Given the description of an element on the screen output the (x, y) to click on. 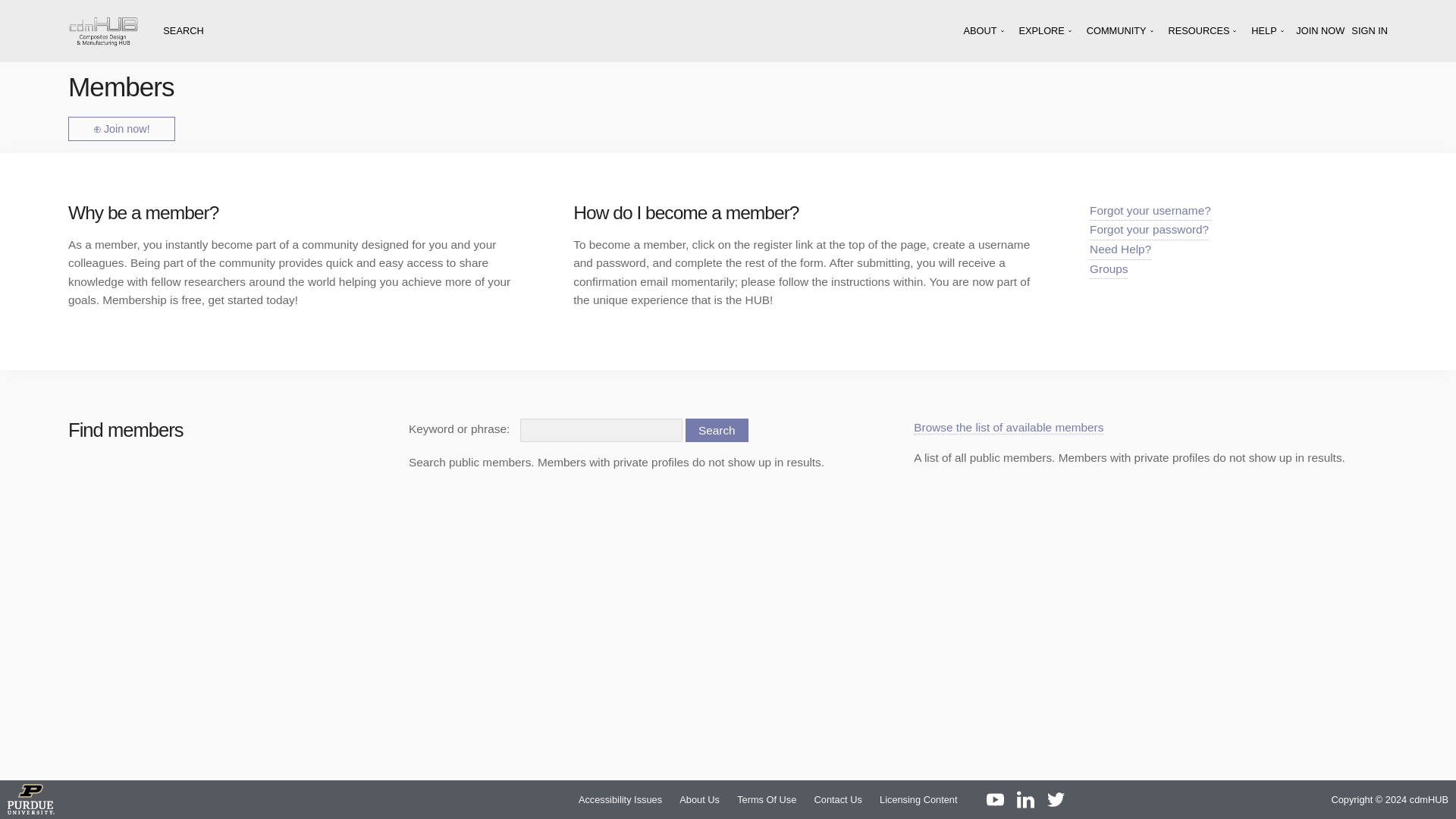
Groups (1107, 270)
Join Now (1319, 30)
Search (716, 430)
Sign In (1369, 30)
Need Help? (1120, 250)
Forgot your password? (1148, 230)
COMMUNITY (1120, 30)
RESOURCES (1202, 30)
HELP (1268, 30)
cdmHUB - The Composites HUB (103, 29)
JOIN NOW (1319, 30)
ABOUT (985, 30)
Join now! (121, 128)
SIGN IN (1369, 30)
EXPLORE (1045, 30)
